Given the description of an element on the screen output the (x, y) to click on. 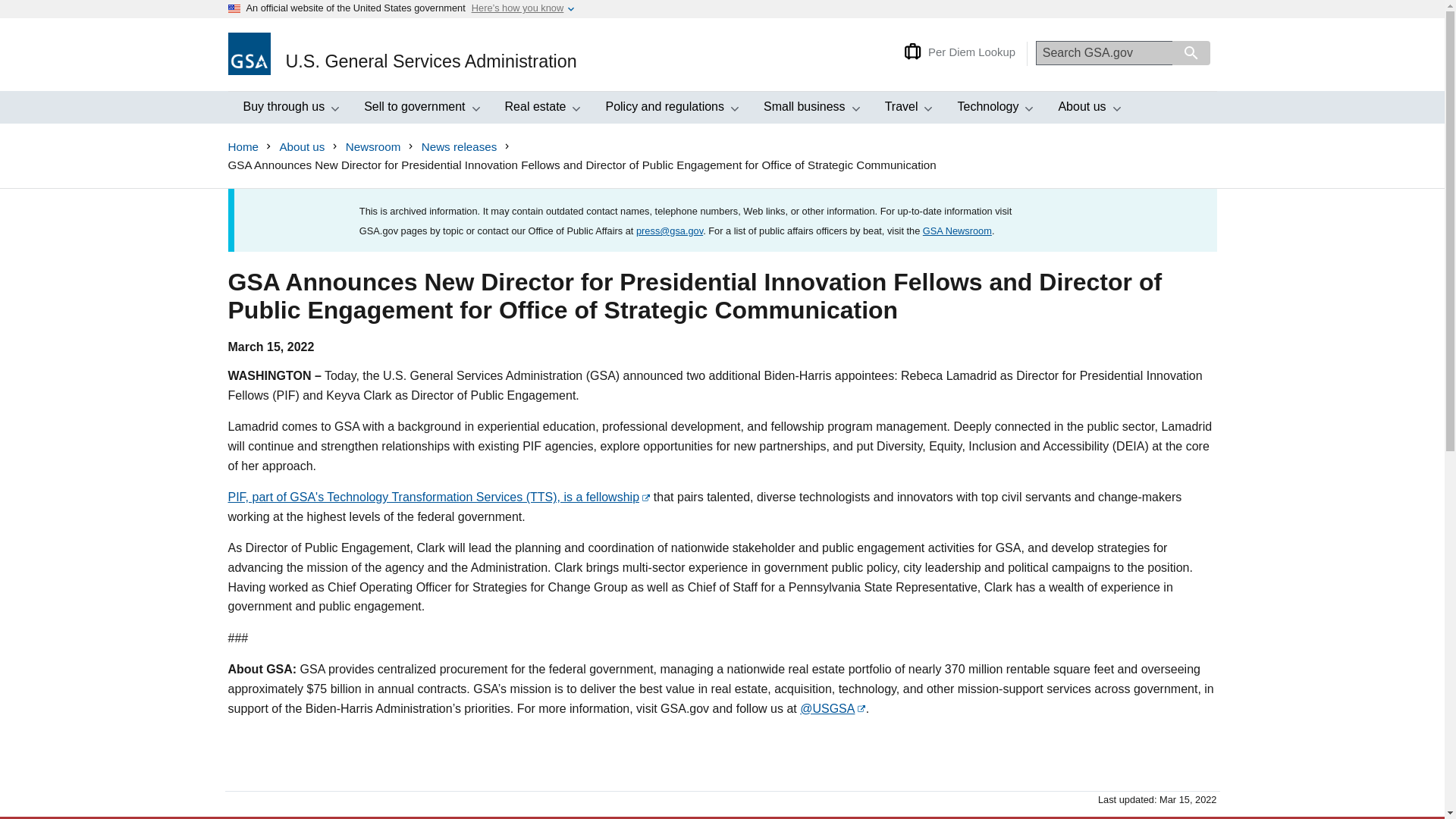
U.S. General Services Administration (288, 107)
Skip to main content (401, 54)
